Given the description of an element on the screen output the (x, y) to click on. 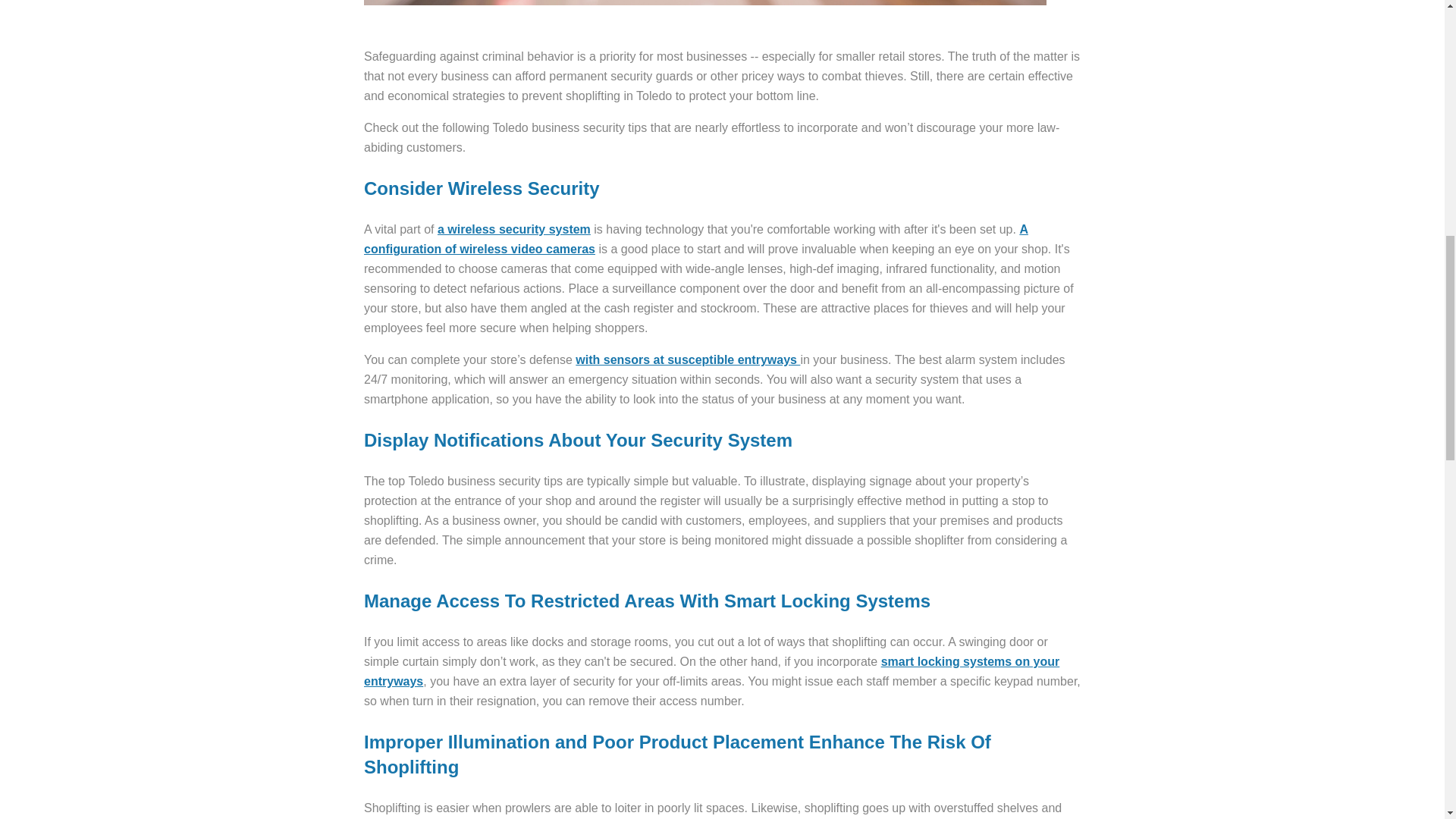
smart locki (912, 661)
Vivint Smart Lock in Toledo (711, 671)
A configuration of wireless video cameras (695, 238)
Vivint Cameras (695, 238)
ng systems on your entryways (711, 671)
Vivint Security Motion Sensors (687, 359)
with sensors at susceptible entryways (687, 359)
a wireless security system (514, 228)
